Given the description of an element on the screen output the (x, y) to click on. 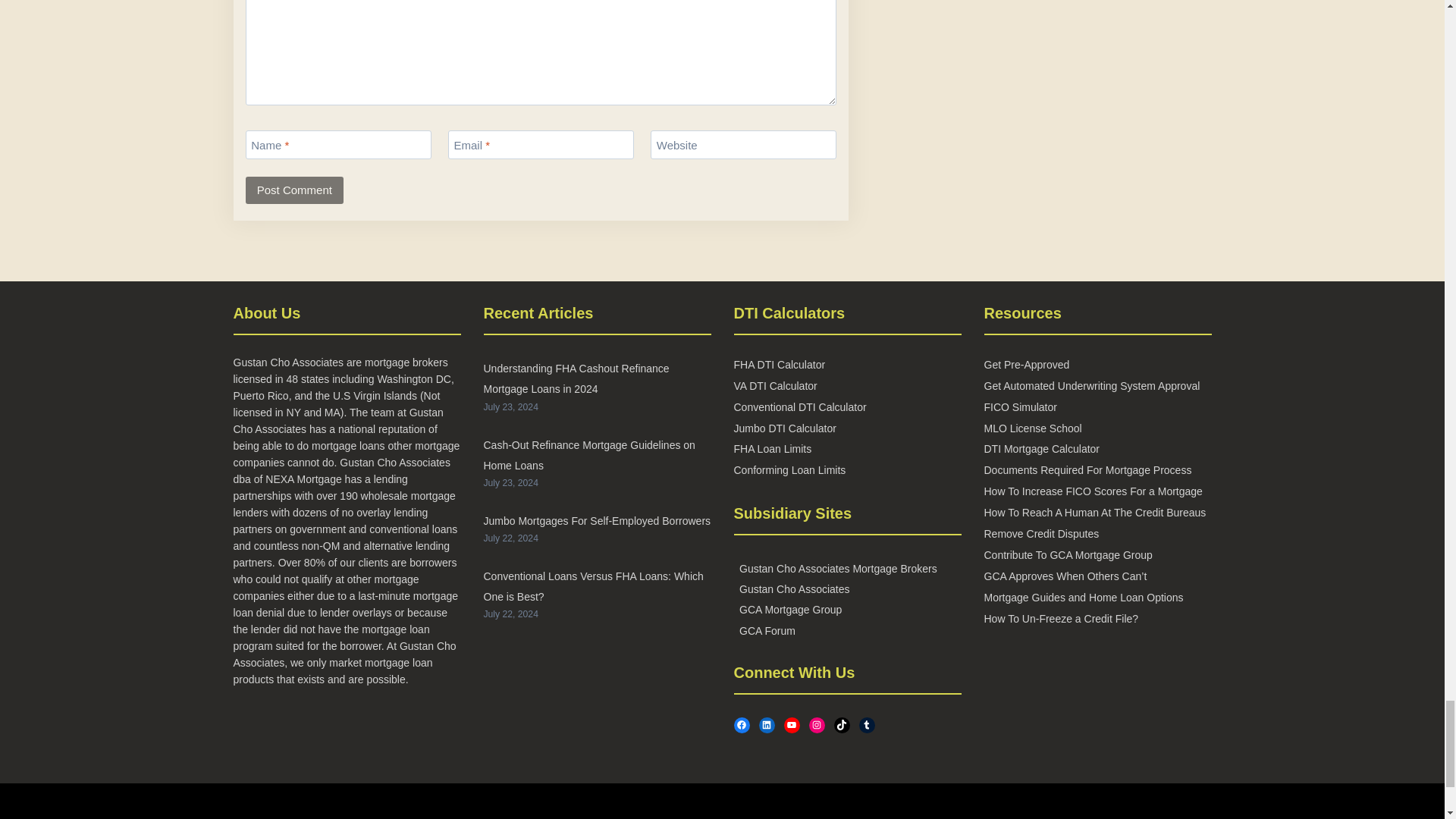
Post Comment (294, 189)
